Given the description of an element on the screen output the (x, y) to click on. 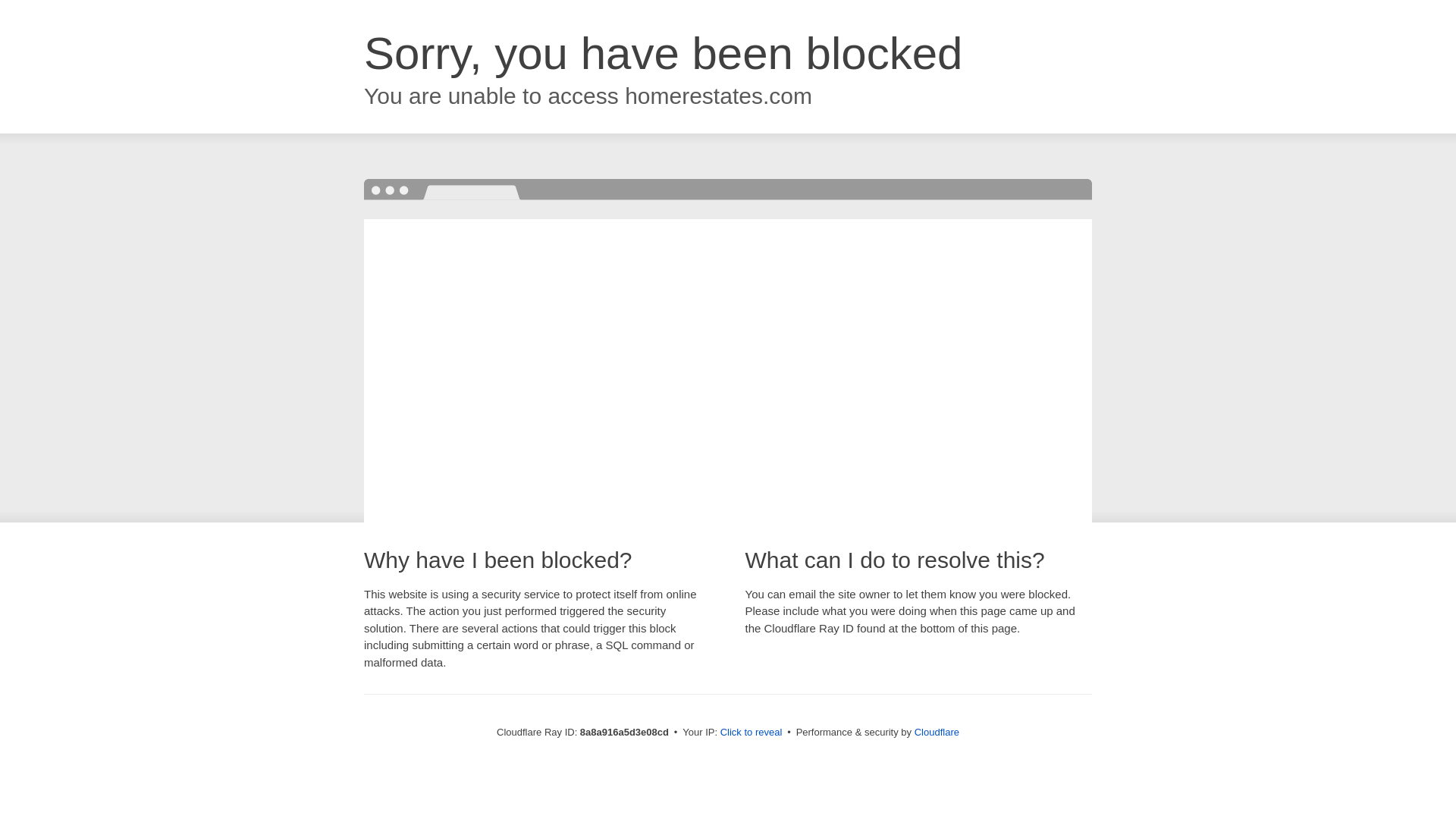
Cloudflare (936, 731)
Click to reveal (751, 732)
